Given the description of an element on the screen output the (x, y) to click on. 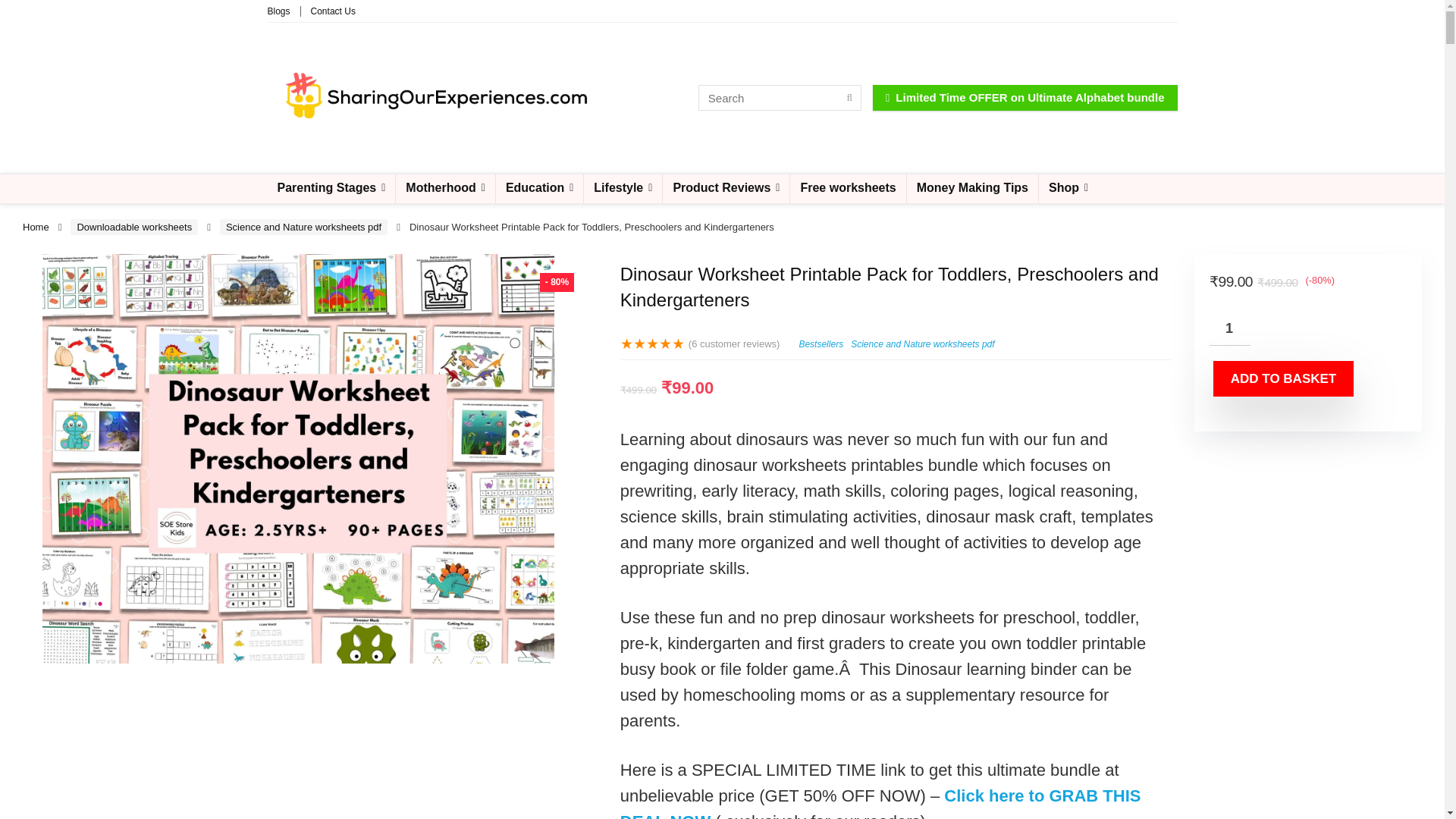
Motherhood (445, 188)
Rated 5 out of 5 (652, 343)
Product Reviews (725, 188)
Blogs (277, 10)
Contact Us (333, 10)
Parenting Stages (330, 188)
Education (539, 188)
Lifestyle (622, 188)
1 (1229, 328)
